Given the description of an element on the screen output the (x, y) to click on. 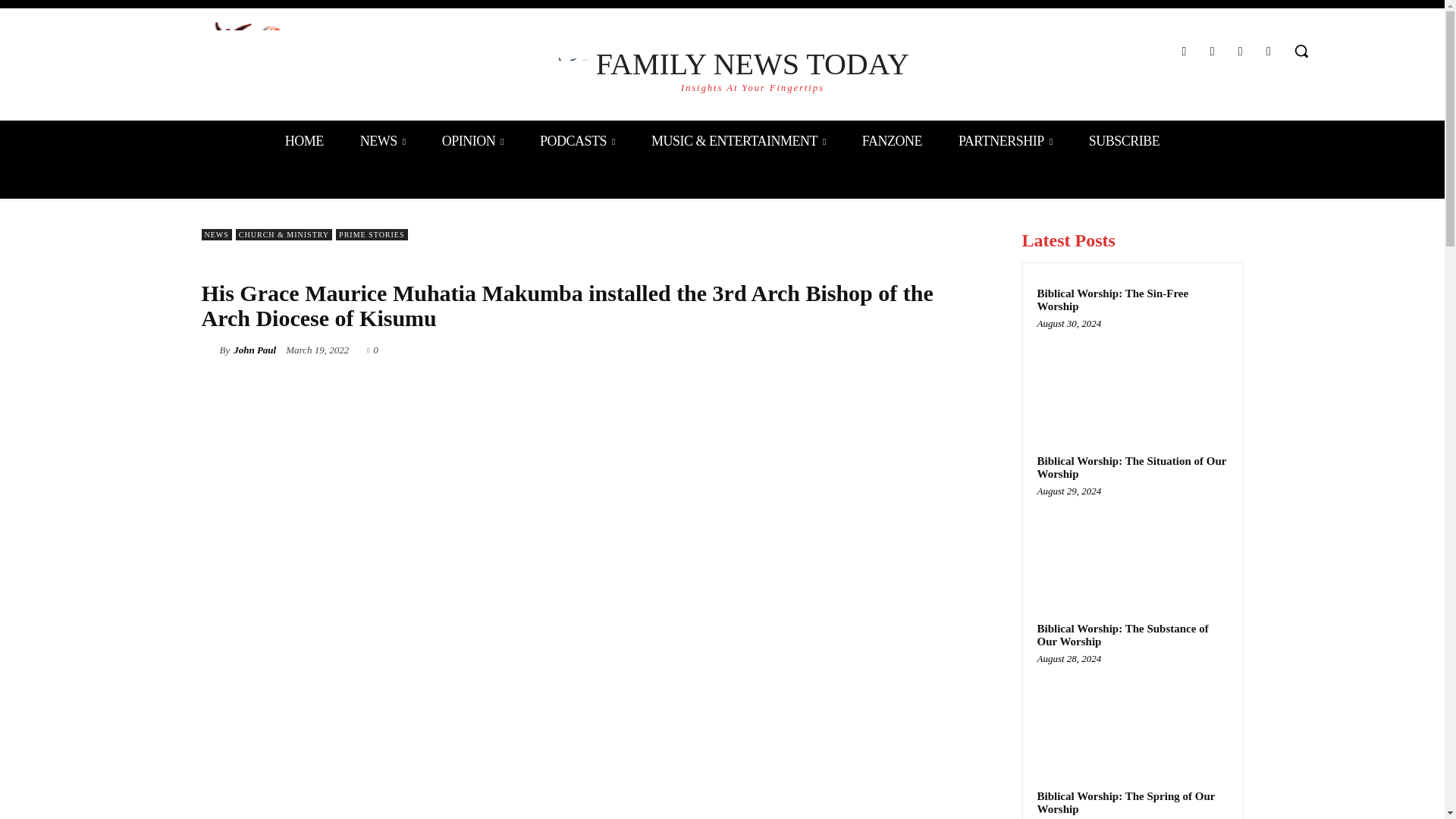
Youtube (721, 69)
Twitter (1267, 50)
Facebook (1240, 50)
Instagram (1183, 50)
